Given the description of an element on the screen output the (x, y) to click on. 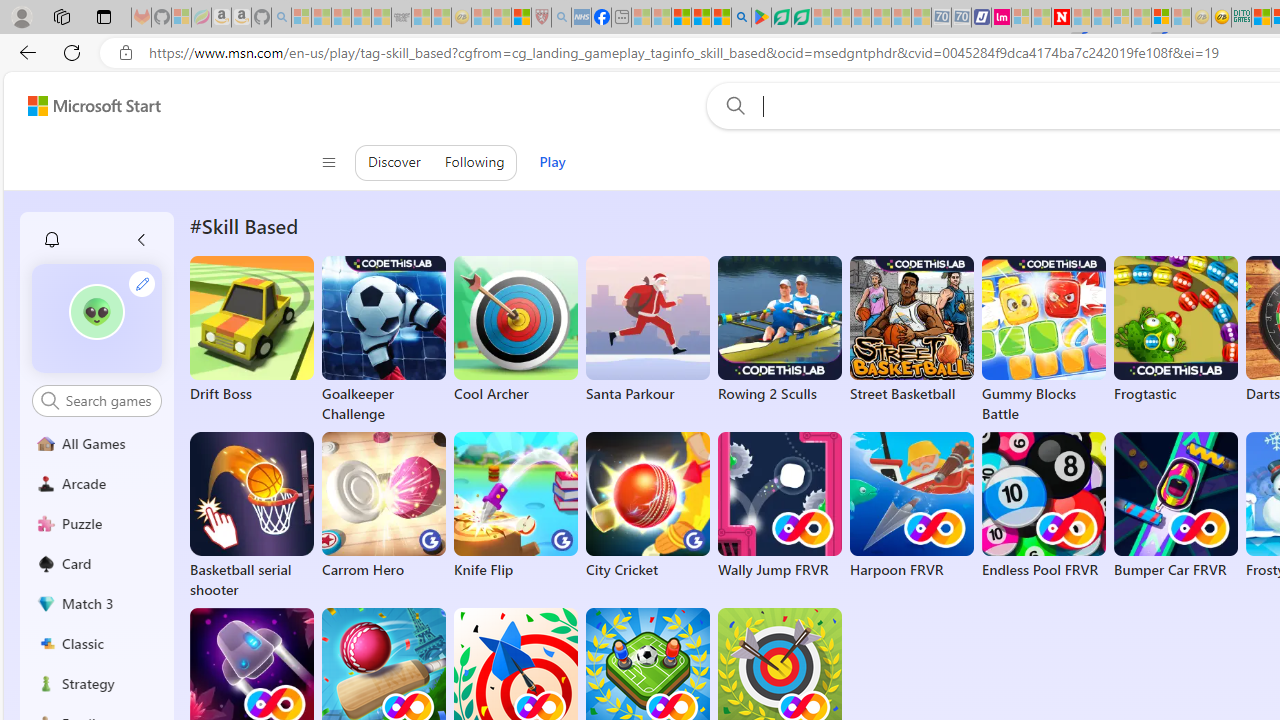
AutomationID: control (108, 400)
Wally Jump FRVR (780, 506)
Class: profile-edit (142, 283)
Local - MSN (521, 17)
